Given the description of an element on the screen output the (x, y) to click on. 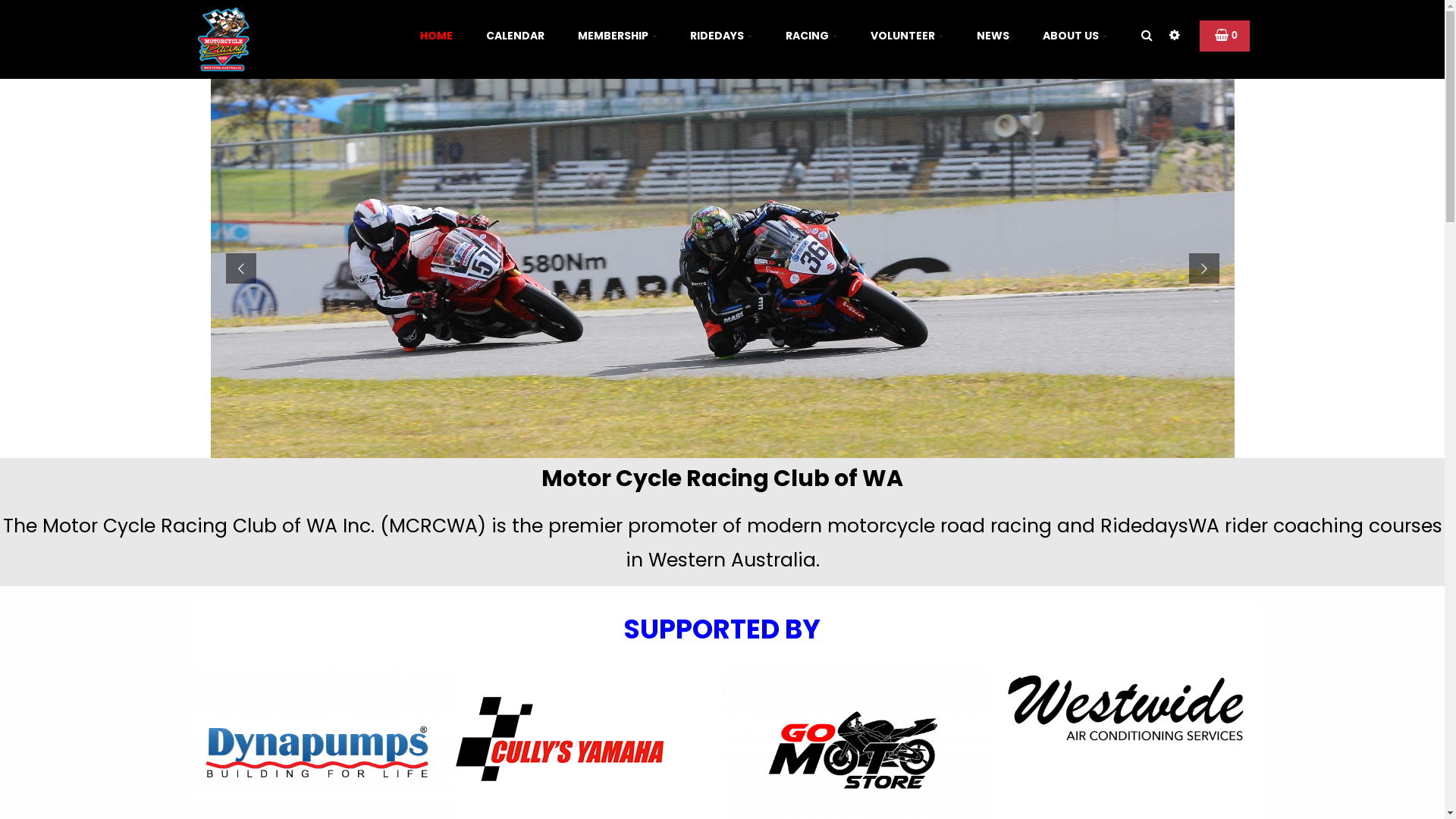
CALENDAR Element type: text (514, 35)
NEWS Element type: text (992, 35)
ABOUT US Element type: text (1073, 35)
HOME Element type: text (435, 35)
MEMBERSHIP Element type: text (616, 35)
RACING Element type: text (811, 35)
VOLUNTEER Element type: text (906, 35)
RIDEDAYS Element type: text (720, 35)
